Given the description of an element on the screen output the (x, y) to click on. 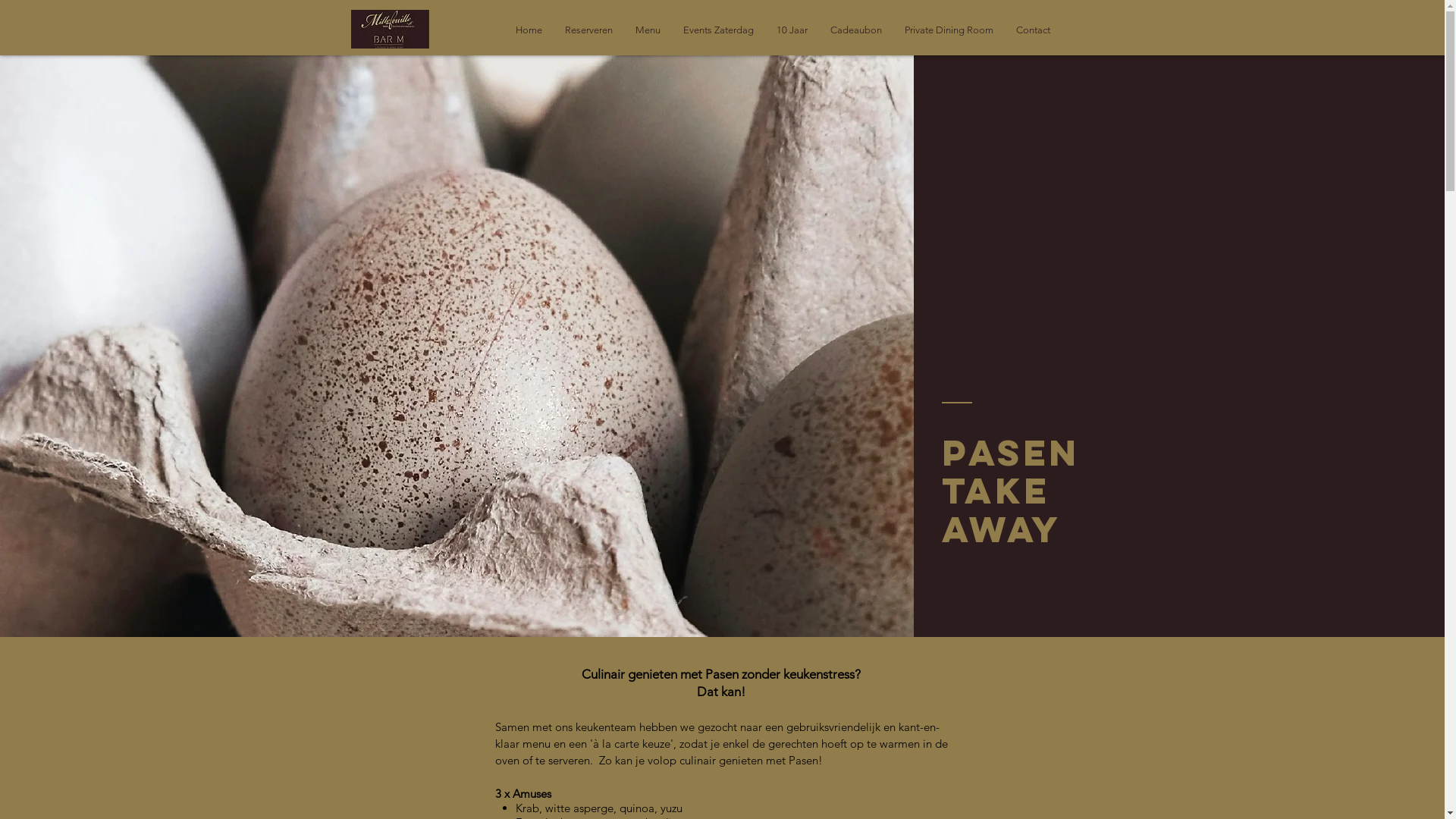
Home Element type: text (527, 30)
Cadeaubon Element type: text (856, 30)
10 Jaar Element type: text (791, 30)
Reserveren Element type: text (588, 30)
Contact Element type: text (1032, 30)
Events Zaterdag Element type: text (718, 30)
Private Dining Room Element type: text (948, 30)
